Given the description of an element on the screen output the (x, y) to click on. 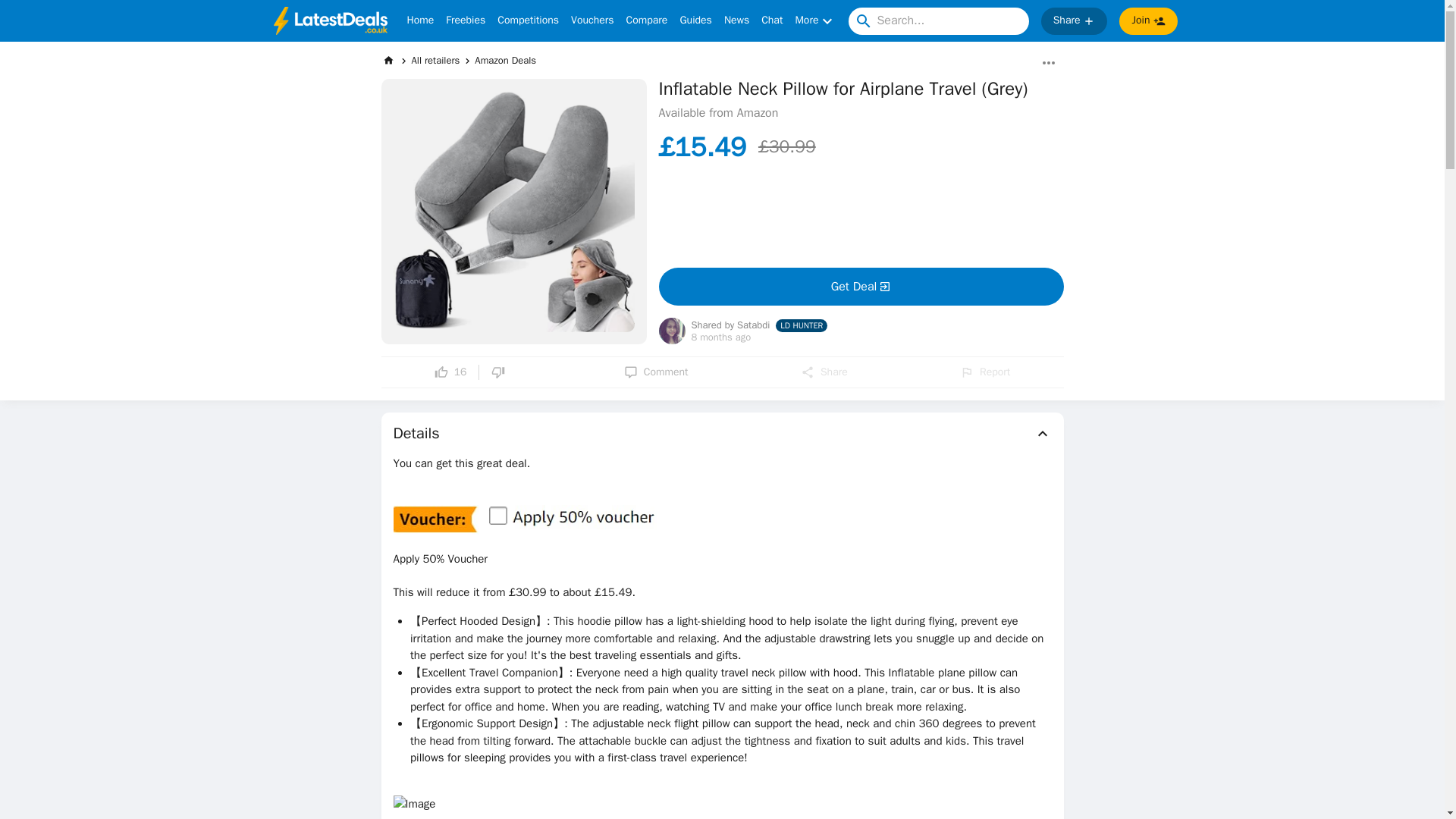
Comment (656, 371)
Home (419, 21)
News (736, 21)
All retailers (435, 60)
Get Deal (860, 286)
Competitions (528, 21)
Shared by Satabdi (730, 325)
Freebies (464, 21)
Compare (647, 21)
Share (823, 371)
